Given the description of an element on the screen output the (x, y) to click on. 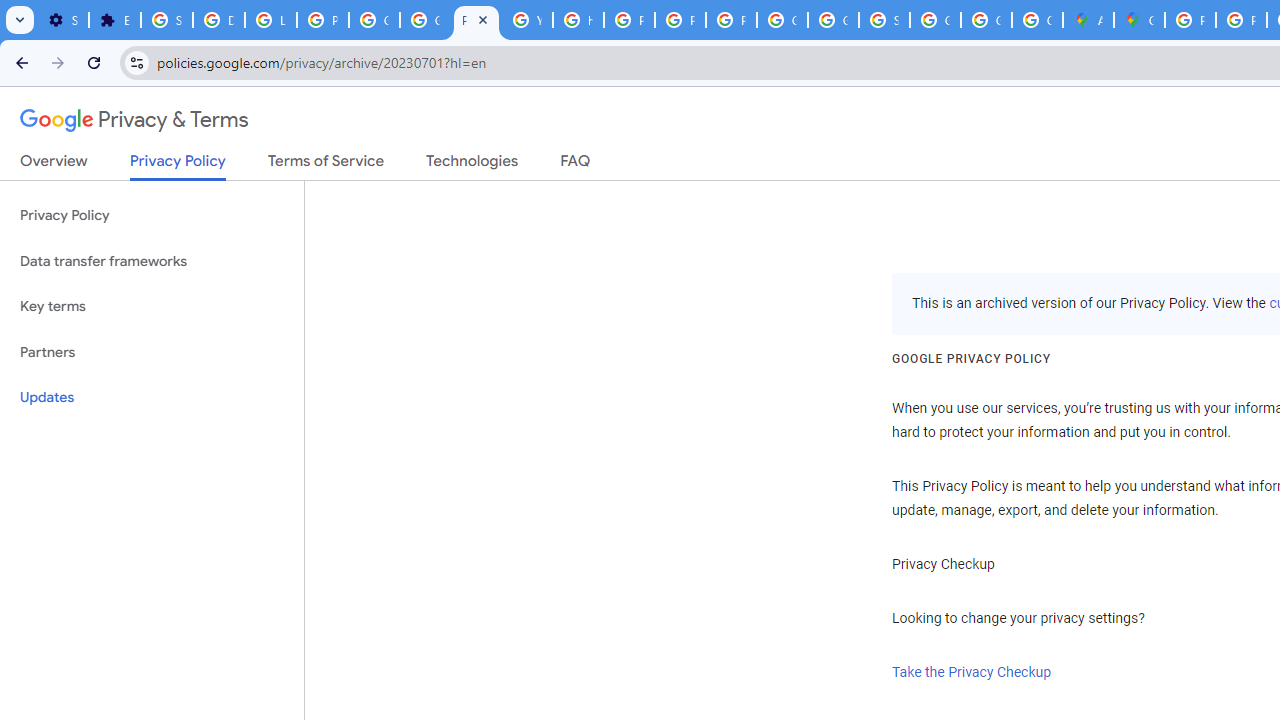
Take the Privacy Checkup (972, 672)
YouTube (526, 20)
Policy Accountability and Transparency - Transparency Center (1189, 20)
Google Account Help (374, 20)
Google Maps (1138, 20)
Delete photos & videos - Computer - Google Photos Help (218, 20)
